Given the description of an element on the screen output the (x, y) to click on. 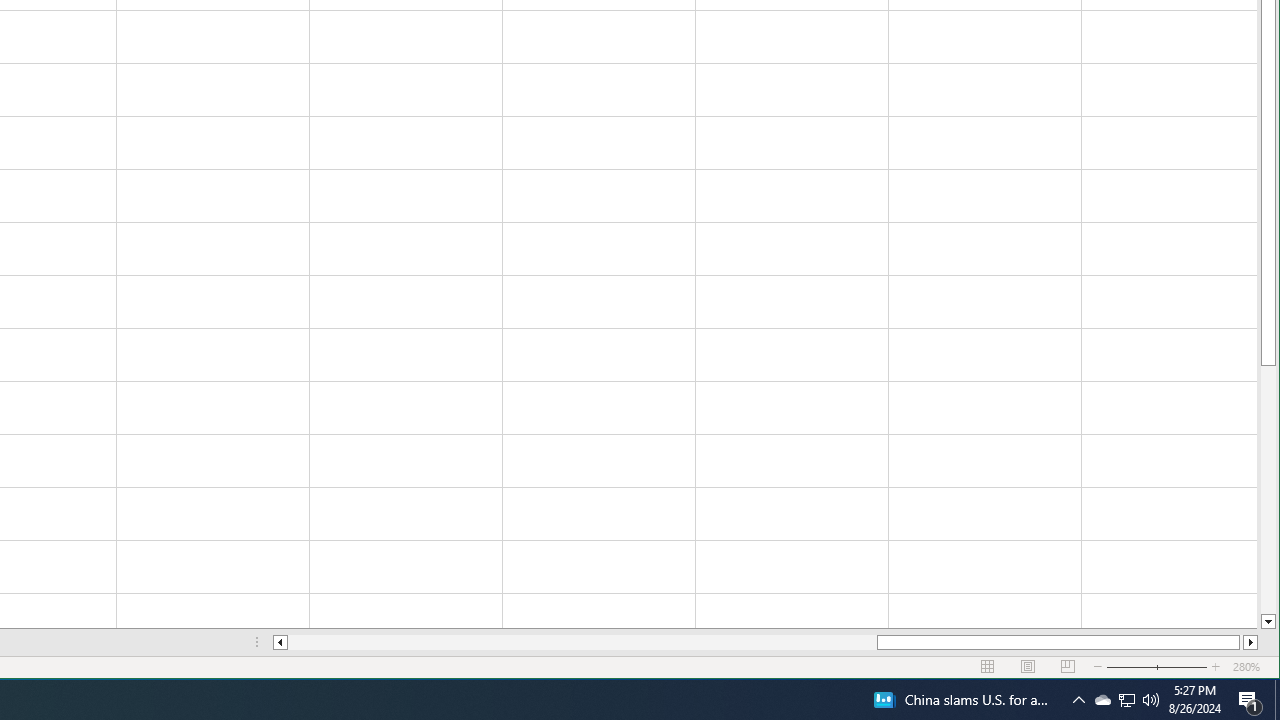
User Promoted Notification Area (1126, 699)
Action Center, 1 new notification (1126, 699)
Notification Chevron (1250, 699)
